Given the description of an element on the screen output the (x, y) to click on. 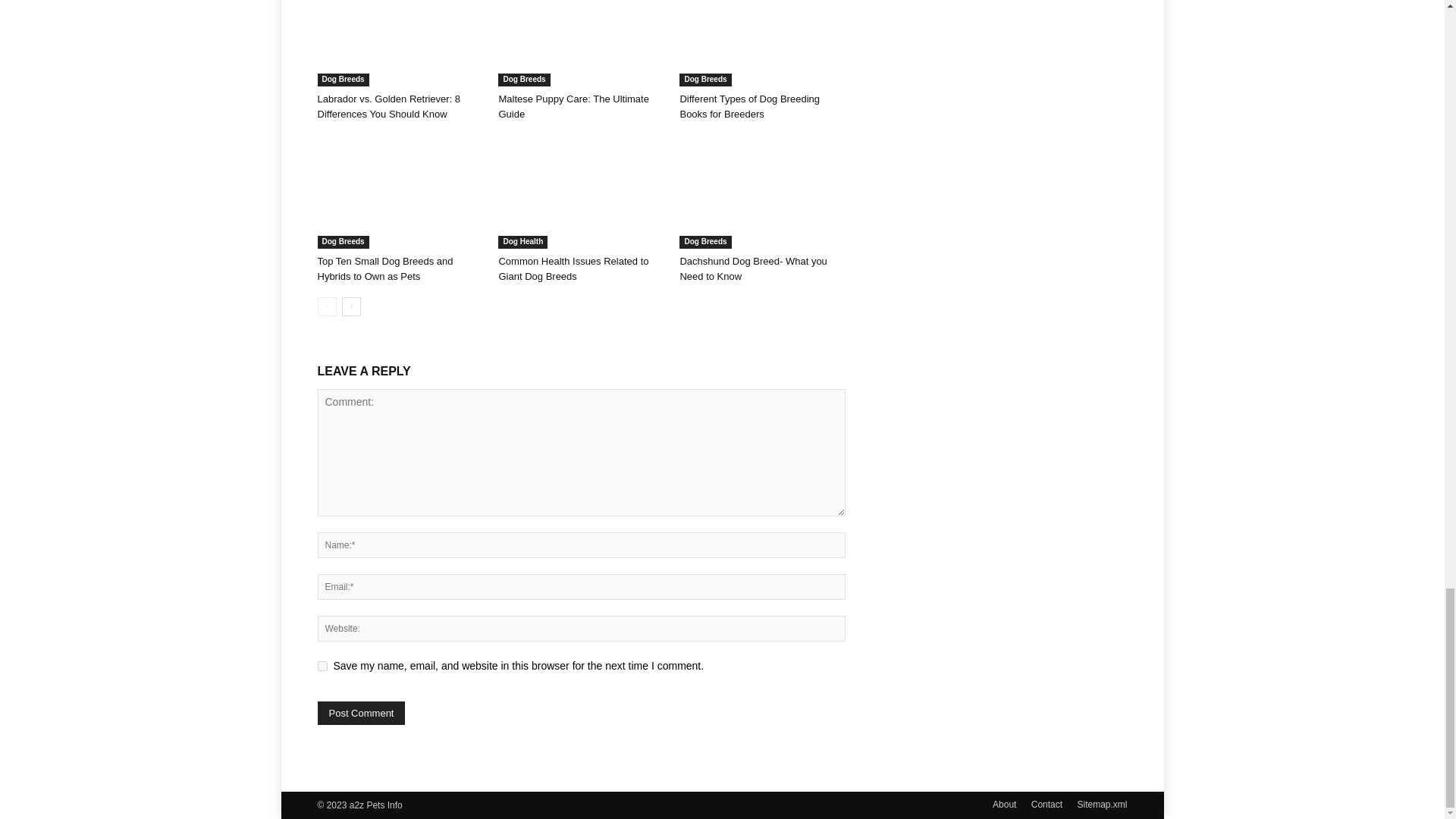
Post Comment (360, 712)
yes (321, 665)
